Given the description of an element on the screen output the (x, y) to click on. 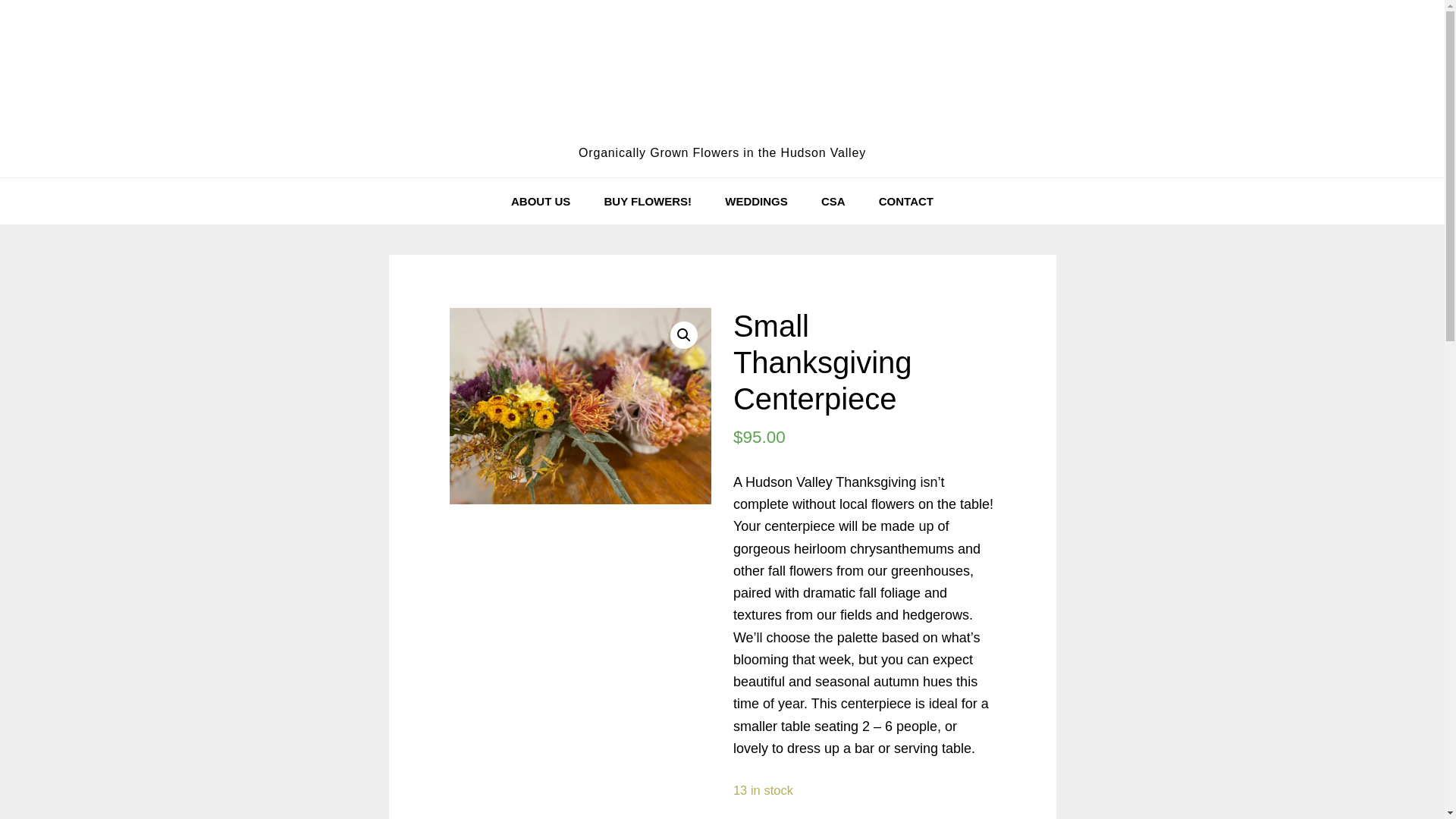
CONTACT (906, 201)
CSA (833, 201)
WEDDINGS (756, 201)
Tiny Hearts Farm (721, 79)
ABOUT US (540, 201)
BUY FLOWERS! (648, 201)
